Given the description of an element on the screen output the (x, y) to click on. 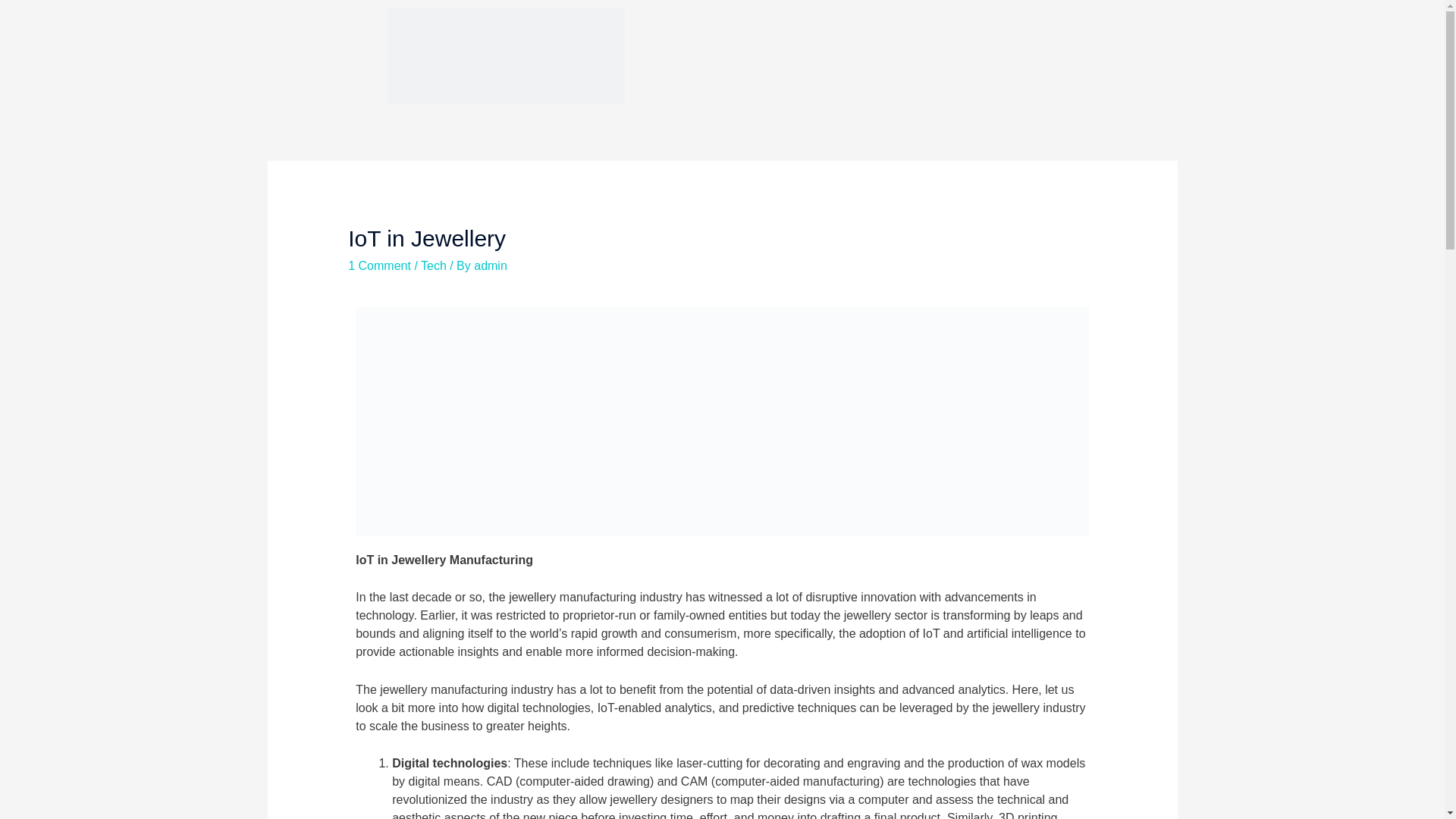
View all posts by admin (490, 265)
1 Comment (378, 265)
admin (490, 265)
Tech (433, 265)
